Given the description of an element on the screen output the (x, y) to click on. 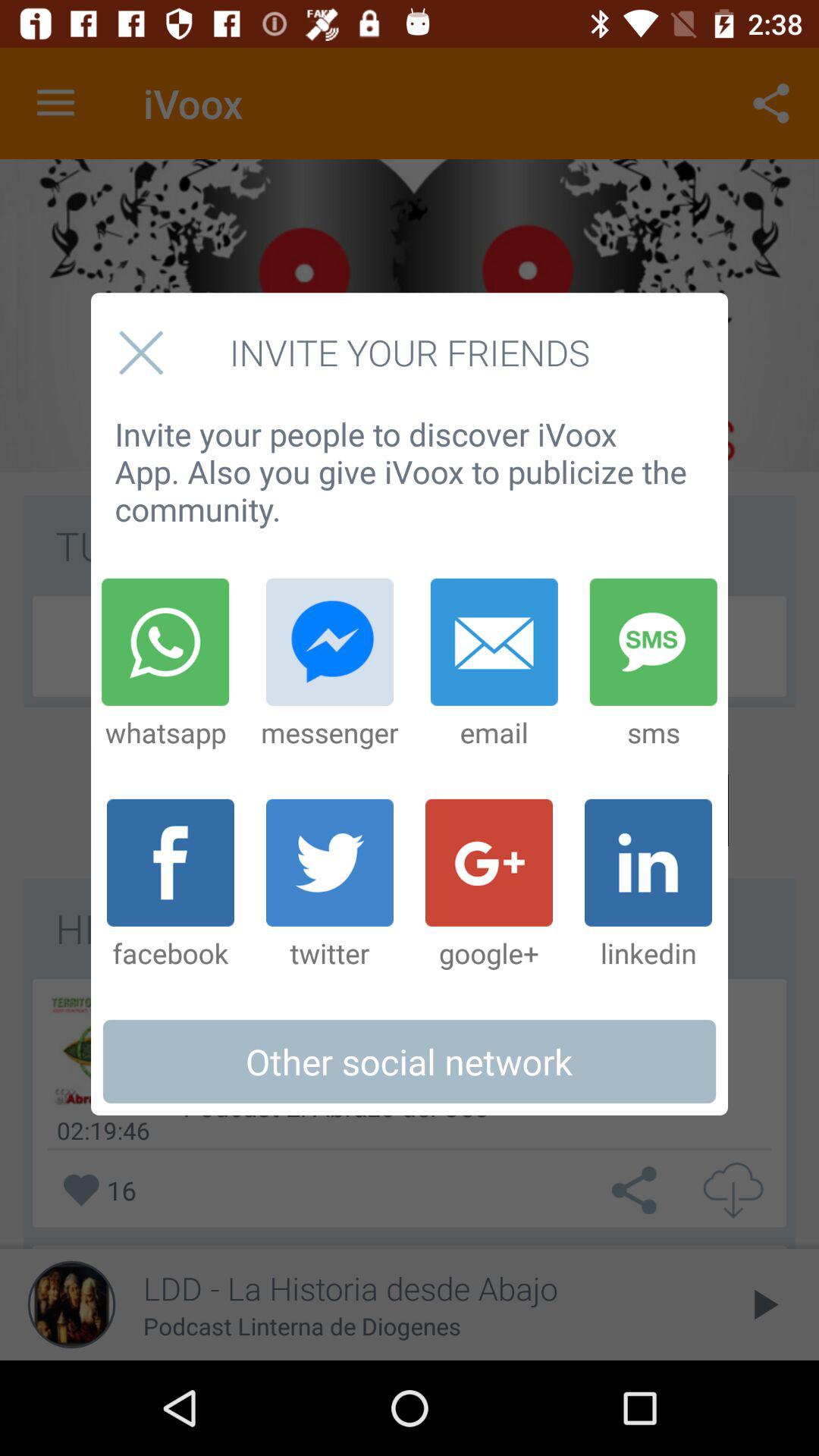
choose item to the left of the twitter (170, 885)
